Given the description of an element on the screen output the (x, y) to click on. 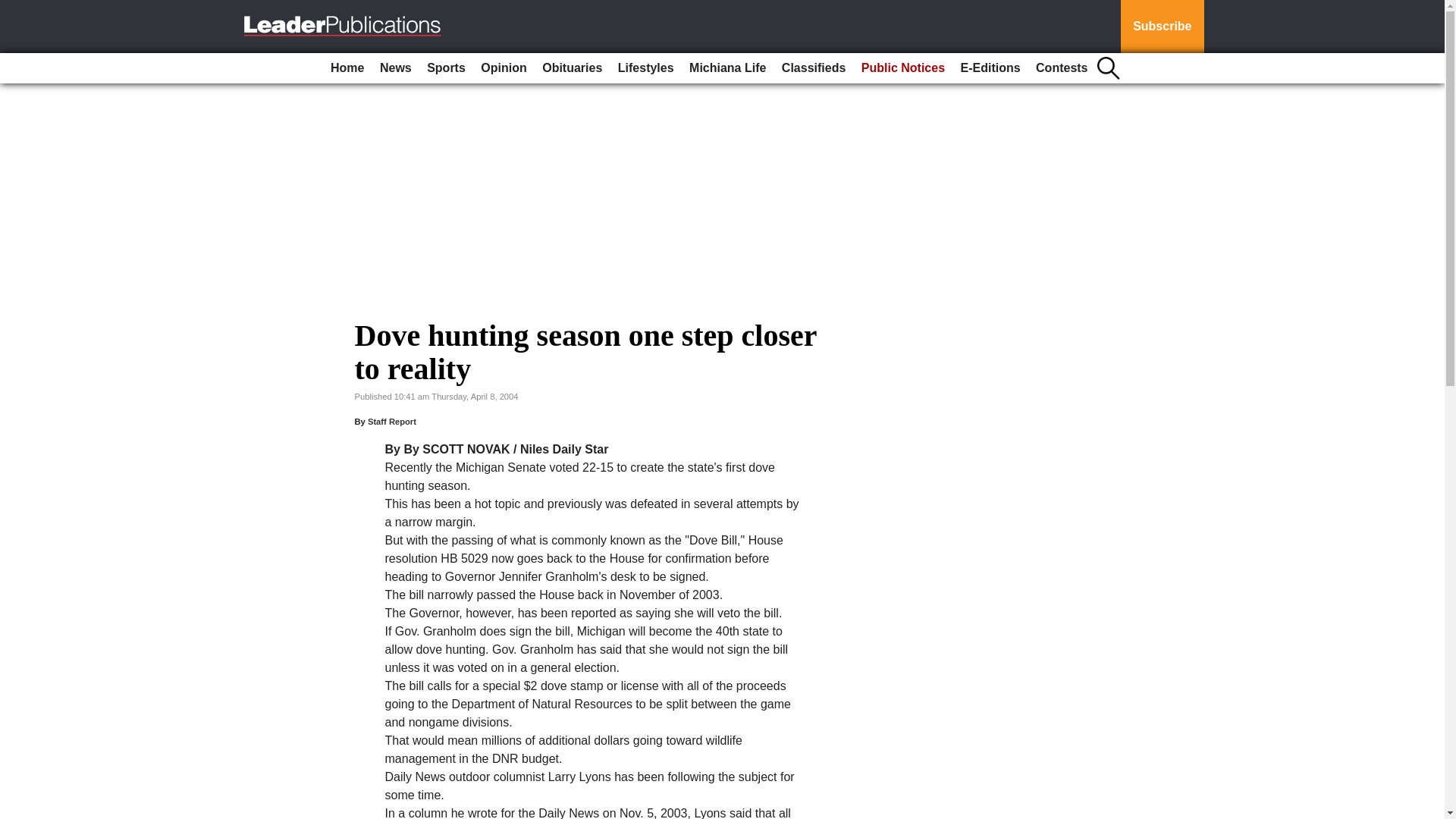
Subscribe (1162, 26)
Public Notices (903, 68)
Obituaries (571, 68)
Go (13, 9)
Staff Report (392, 420)
Contests (1061, 68)
Michiana Life (726, 68)
Classifieds (813, 68)
Home (346, 68)
Sports (445, 68)
Opinion (503, 68)
E-Editions (989, 68)
News (395, 68)
Lifestyles (645, 68)
